Given the description of an element on the screen output the (x, y) to click on. 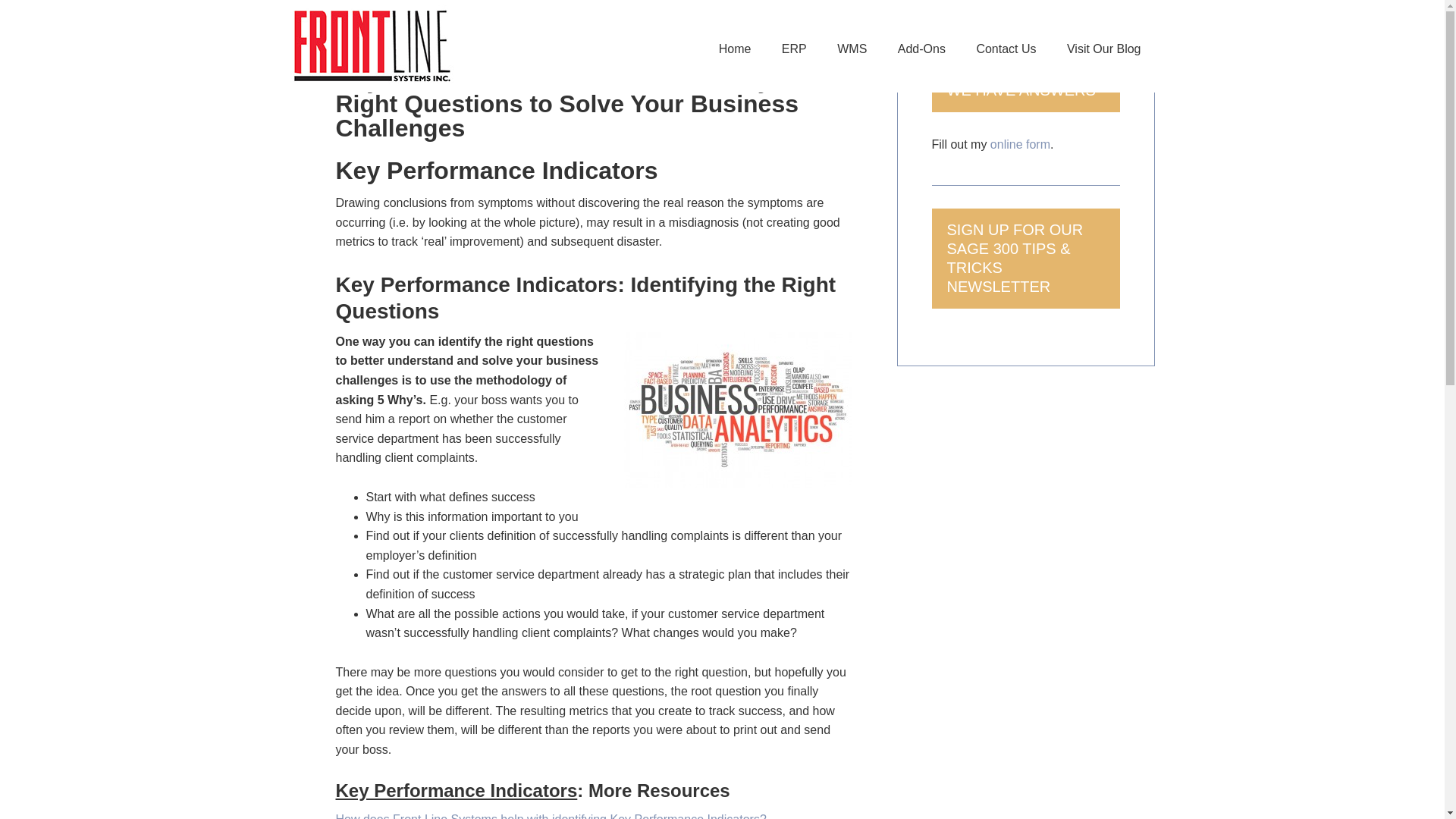
Add-Ons (921, 49)
Why Front Line (549, 816)
Front Line Systems (410, 45)
